Given the description of an element on the screen output the (x, y) to click on. 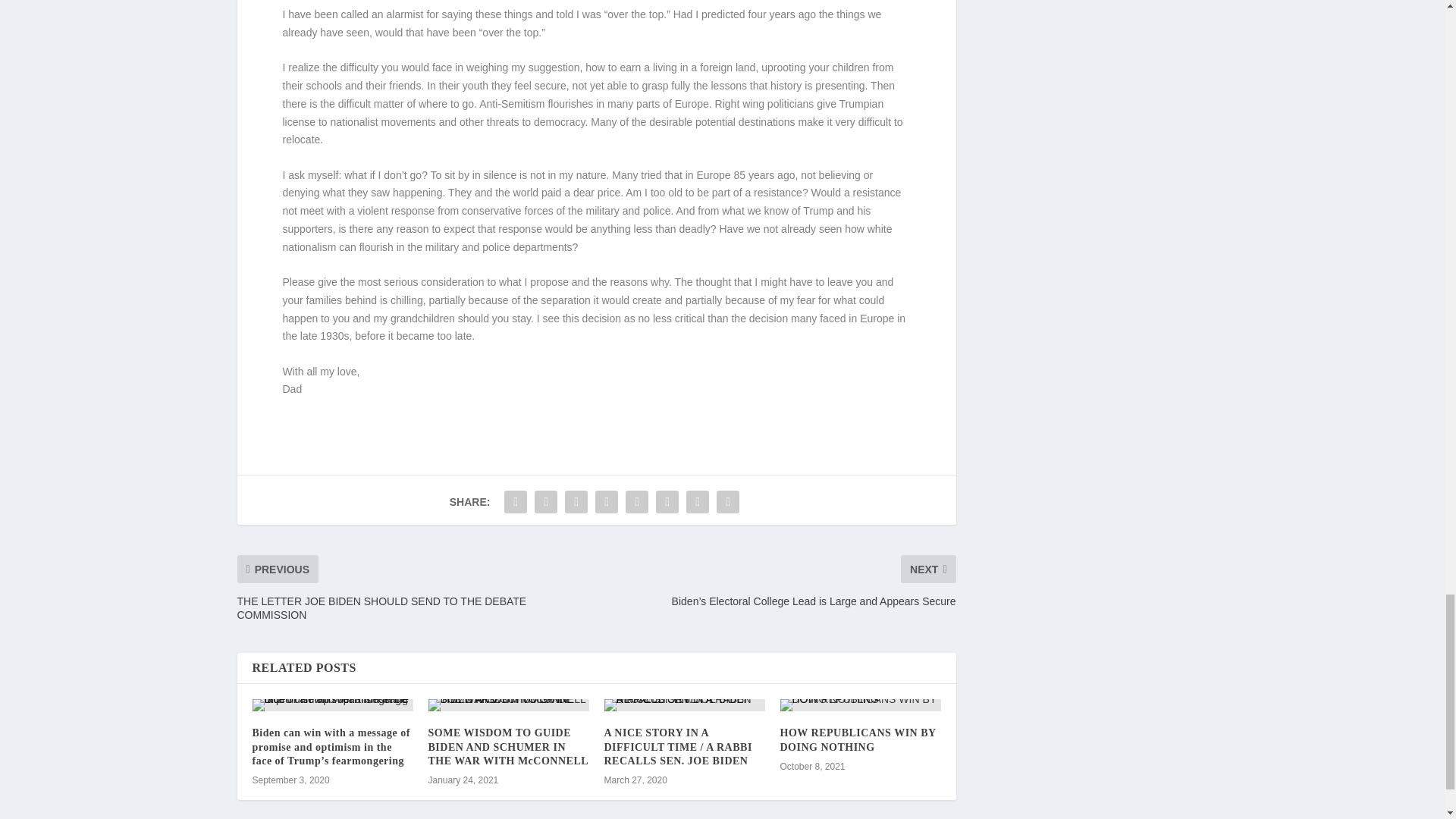
HOW REPUBLICANS WIN BY DOING NOTHING (859, 705)
Share "THE FEARS OF AN AMERICAN FATHER" via Facebook (515, 501)
Share "THE FEARS OF AN AMERICAN FATHER" via LinkedIn (636, 501)
Share "THE FEARS OF AN AMERICAN FATHER" via Tumblr (575, 501)
Share "THE FEARS OF AN AMERICAN FATHER" via Stumbleupon (697, 501)
Share "THE FEARS OF AN AMERICAN FATHER" via Twitter (545, 501)
Share "THE FEARS OF AN AMERICAN FATHER" via Pinterest (606, 501)
Share "THE FEARS OF AN AMERICAN FATHER" via Buffer (667, 501)
Share "THE FEARS OF AN AMERICAN FATHER" via Email (727, 501)
HOW REPUBLICANS WIN BY DOING NOTHING (857, 739)
